Given the description of an element on the screen output the (x, y) to click on. 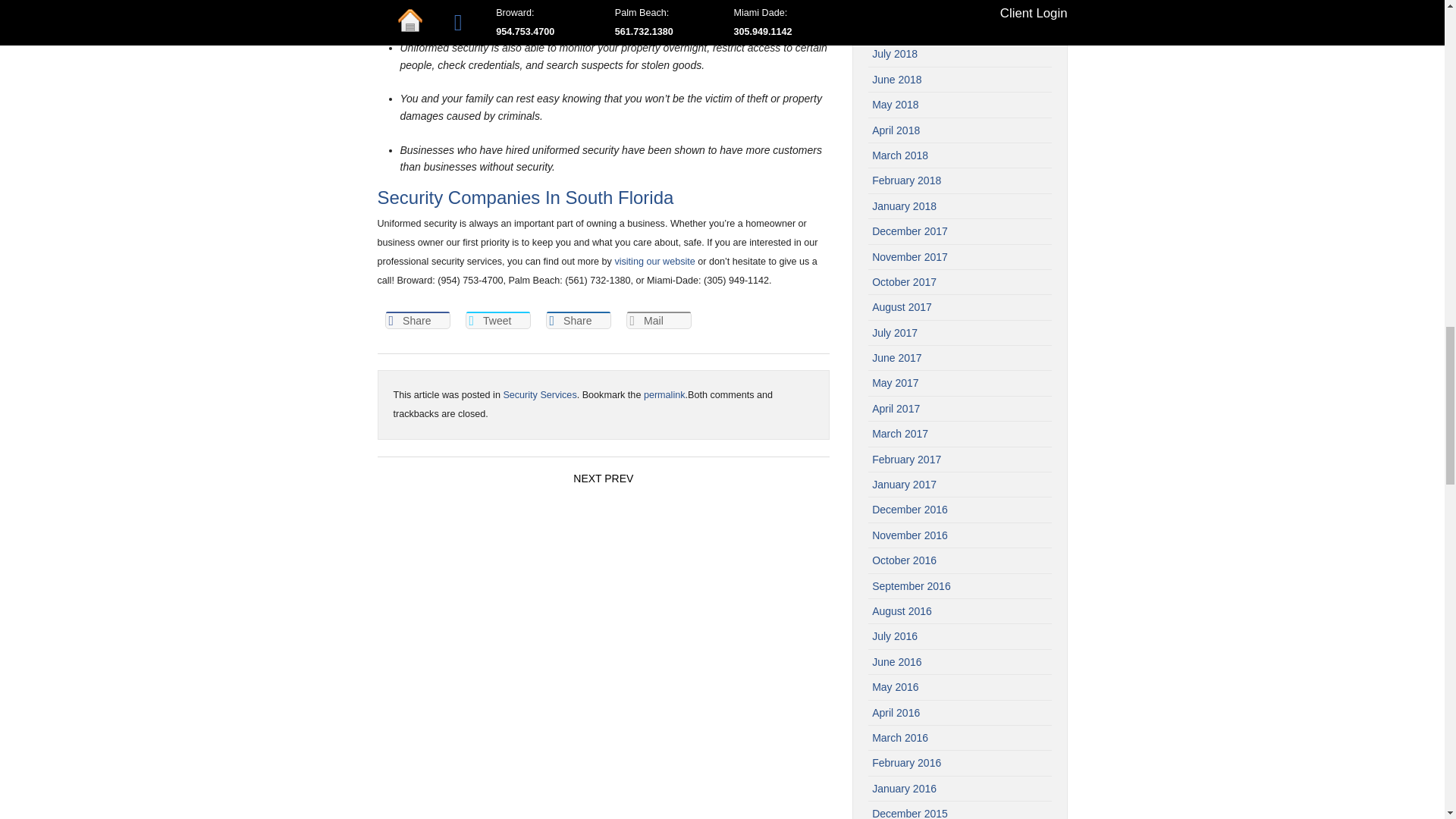
Share on Twitter (498, 319)
Share it on Email (658, 319)
Share on Facebook (417, 319)
Share on Digg (578, 319)
